Given the description of an element on the screen output the (x, y) to click on. 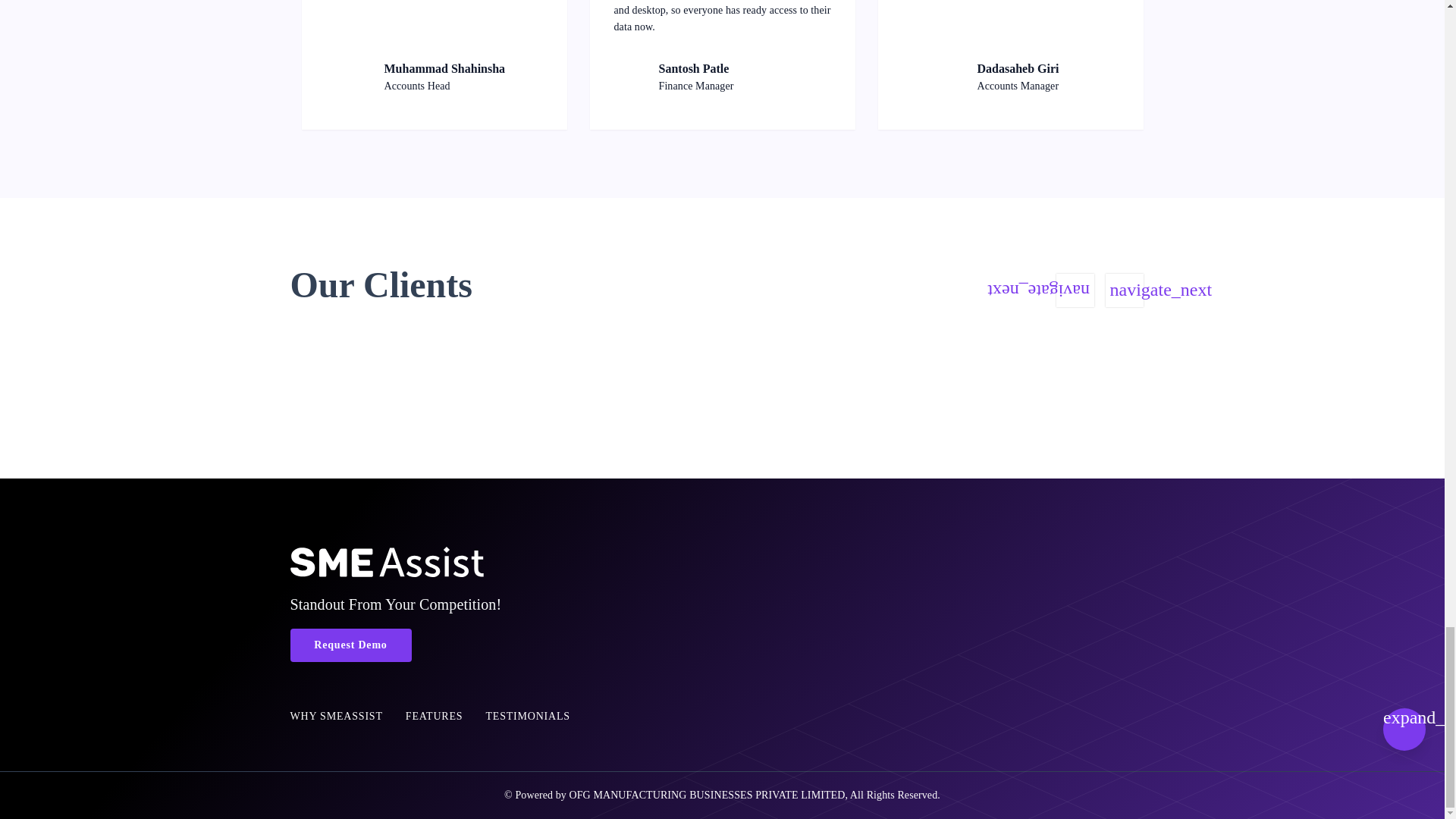
Previous (1074, 290)
WHY SMEASSIST (335, 715)
Request Demo (349, 644)
Next (1123, 290)
